Given the description of an element on the screen output the (x, y) to click on. 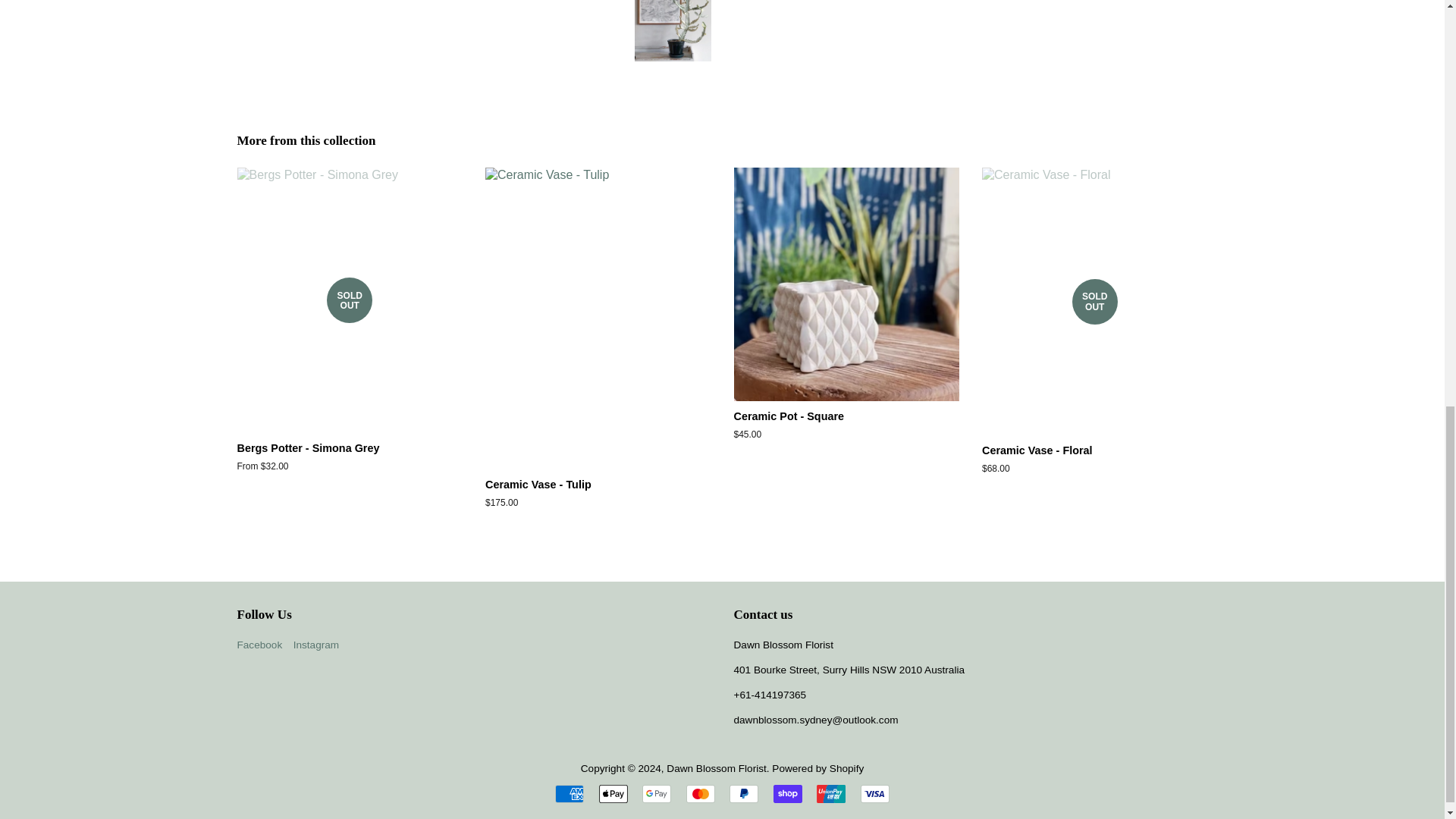
Visa (874, 793)
Mastercard (699, 793)
Union Pay (830, 793)
Shop Pay (787, 793)
Dawn Blossom Florist on Facebook (258, 644)
Dawn Blossom Florist on Instagram (316, 644)
Google Pay (656, 793)
PayPal (743, 793)
Apple Pay (612, 793)
American Express (568, 793)
